Given the description of an element on the screen output the (x, y) to click on. 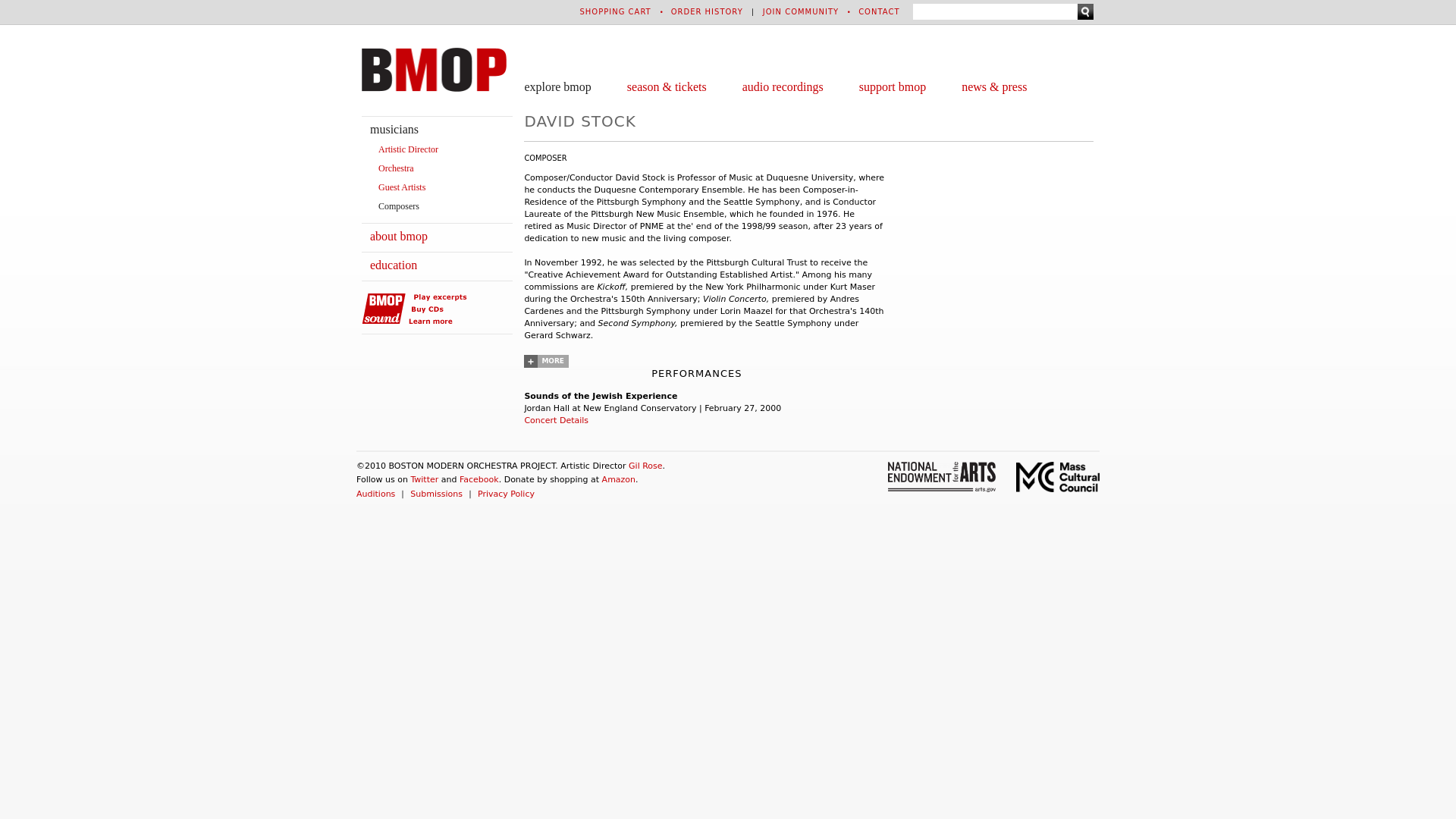
Musicians (394, 128)
Gil Rose (645, 465)
Search (1085, 11)
education (392, 264)
JOIN COMMUNITY (800, 11)
Artistic Director (408, 149)
Submissions (436, 493)
Search (1085, 11)
support bmop (892, 87)
ORDER HISTORY (706, 11)
